Given the description of an element on the screen output the (x, y) to click on. 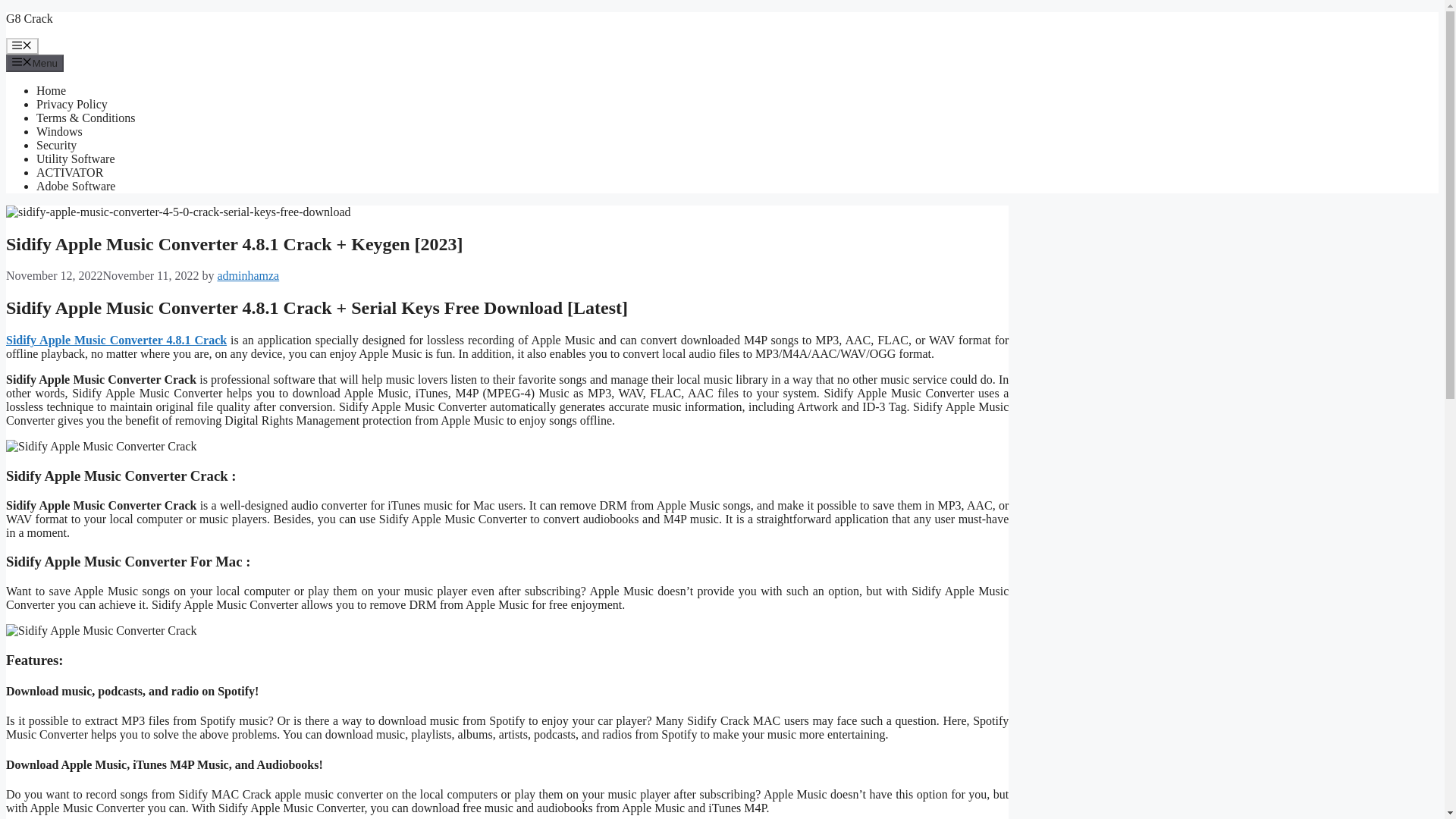
Utility Software (75, 158)
Security (56, 144)
Adobe Software (75, 185)
adminhamza (247, 275)
Menu (34, 62)
Menu (22, 45)
View all posts by adminhamza (247, 275)
ACTIVATOR (69, 172)
